Given the description of an element on the screen output the (x, y) to click on. 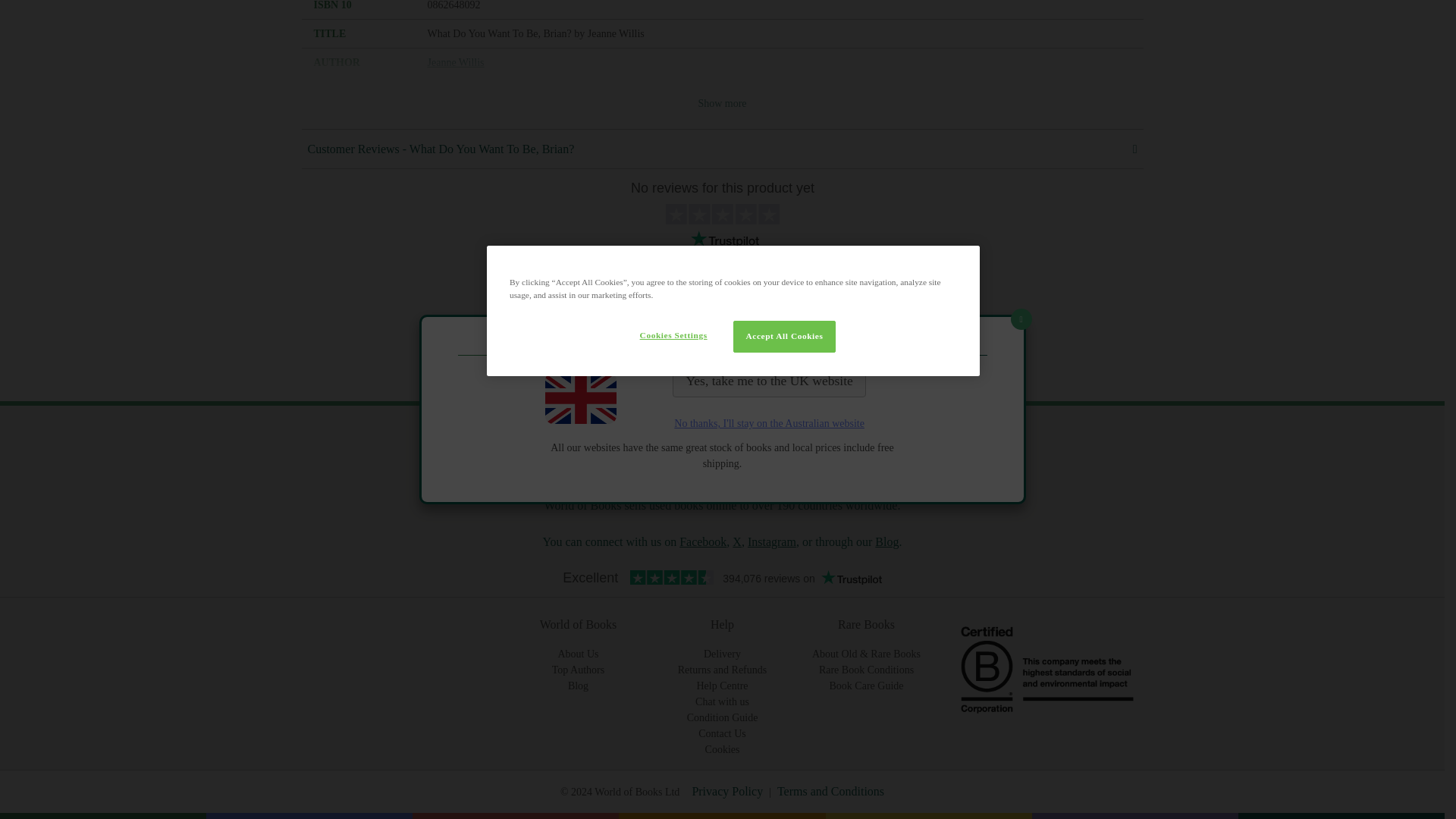
Jeanne Willis (456, 61)
Show more (721, 103)
